Given the description of an element on the screen output the (x, y) to click on. 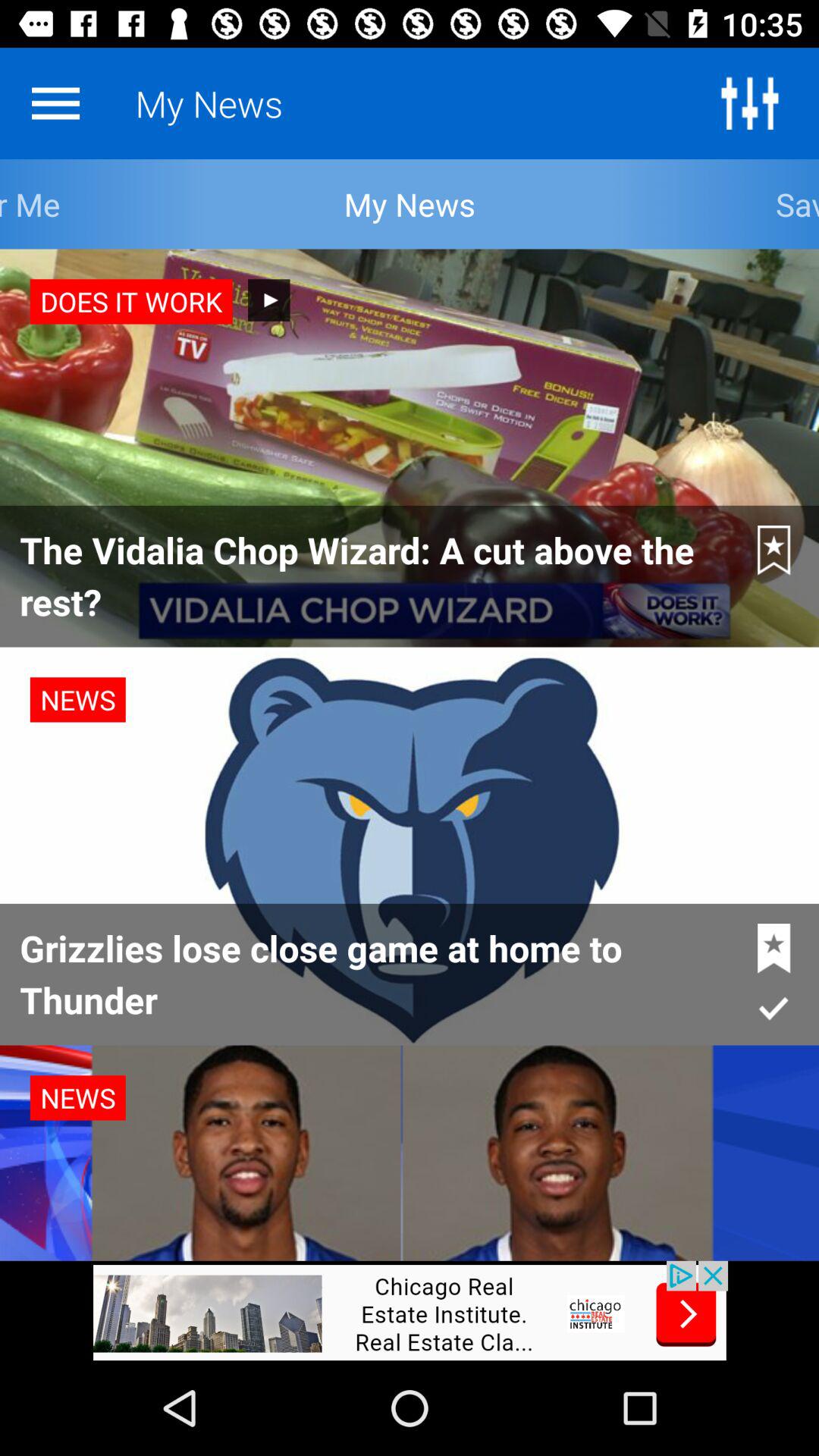
go to all (749, 102)
